Given the description of an element on the screen output the (x, y) to click on. 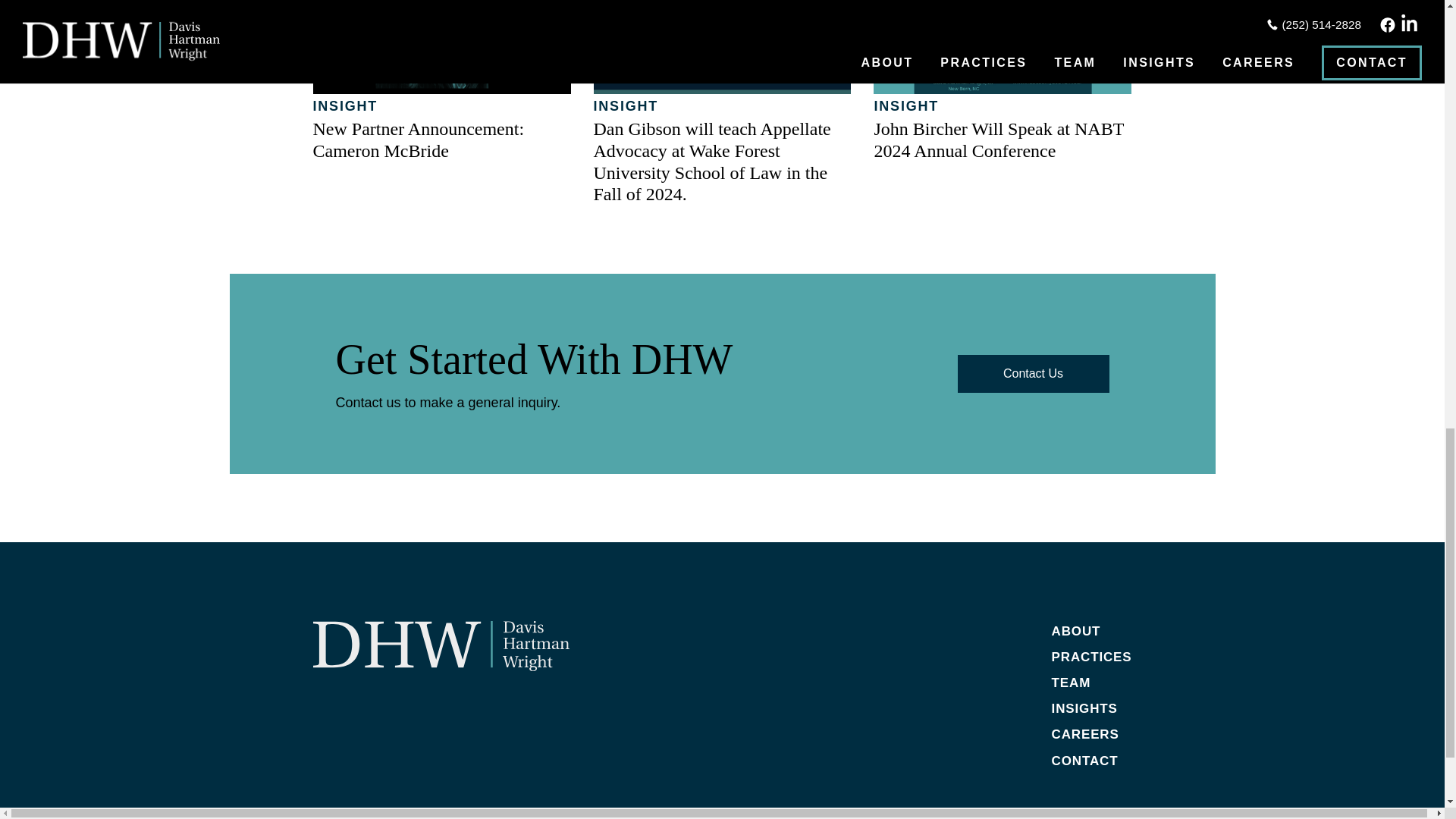
CONTACT (1084, 760)
John Bircher Will Speak at NABT 2024 Annual Conference (997, 139)
TEAM (1070, 682)
Contact Us (1032, 373)
New Partner Announcement: Cameron McBride (418, 139)
INSIGHTS (1084, 708)
CAREERS (1085, 734)
PRACTICES (1091, 657)
ABOUT (1075, 631)
